Given the description of an element on the screen output the (x, y) to click on. 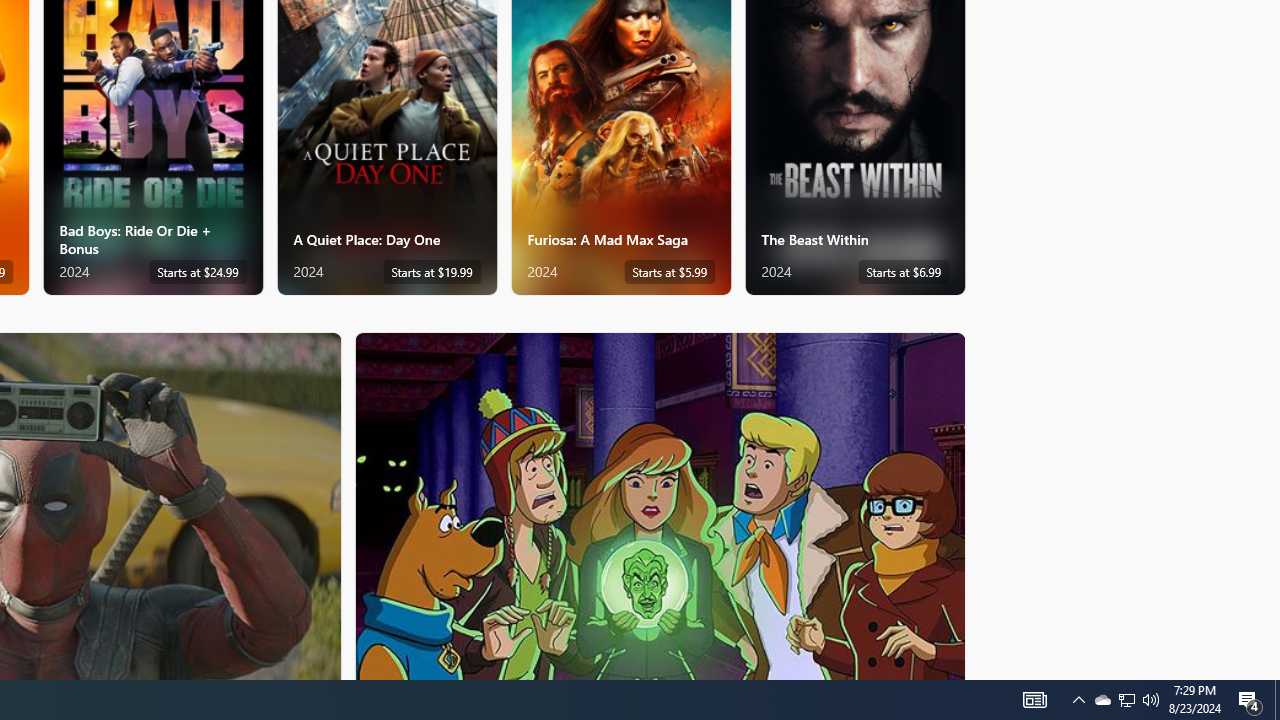
AutomationID: PosterImage (658, 505)
Family (660, 505)
